Given the description of an element on the screen output the (x, y) to click on. 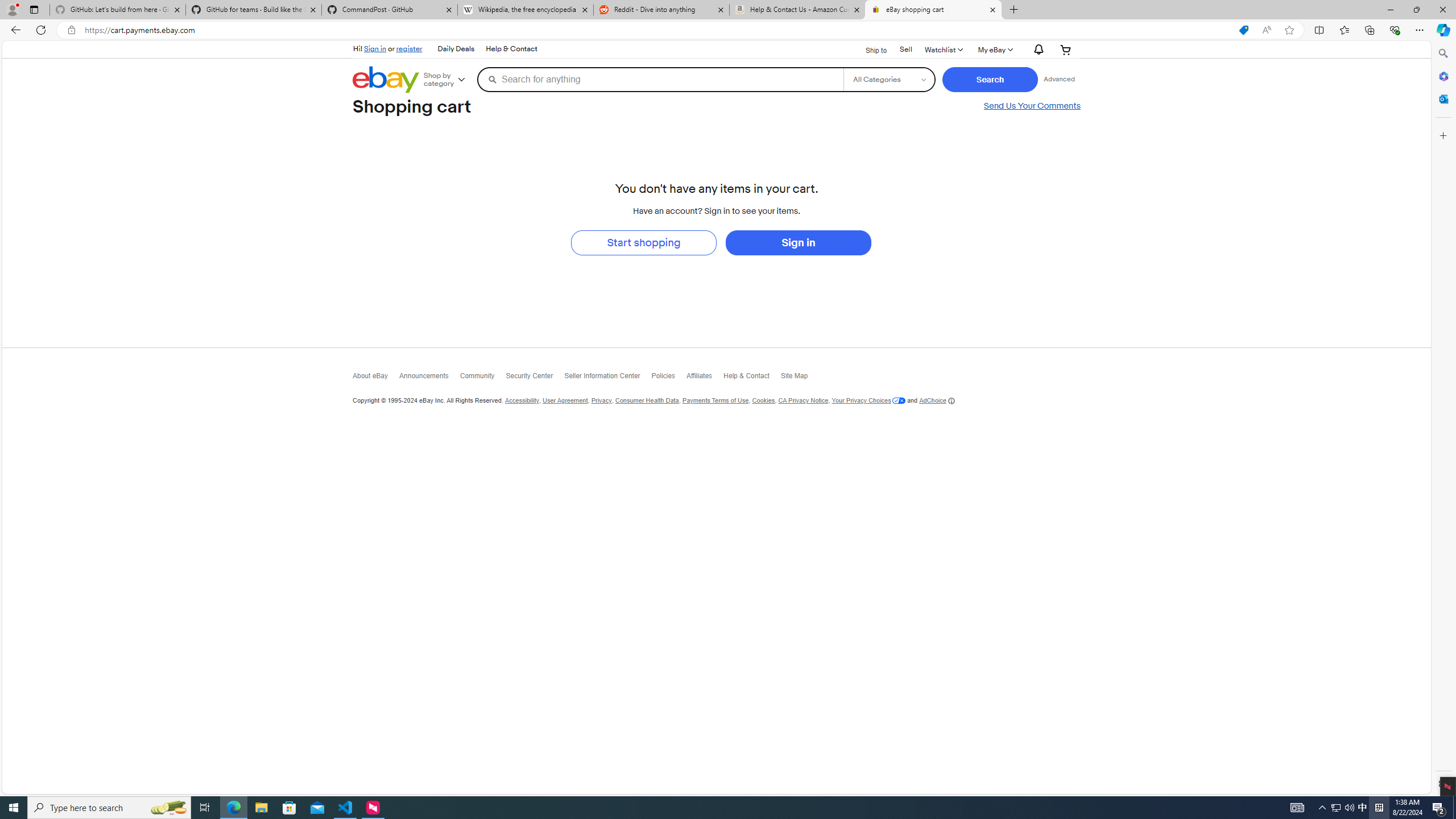
Advanced Search (1058, 78)
Your shopping cart is empty (1065, 49)
Community (483, 377)
Announcements (429, 378)
Cookies (762, 400)
My eBay (994, 49)
Your Privacy Choices (868, 400)
Search for anything (660, 78)
Ship to (868, 50)
Seller Information Center (608, 378)
About eBay (376, 378)
